Given the description of an element on the screen output the (x, y) to click on. 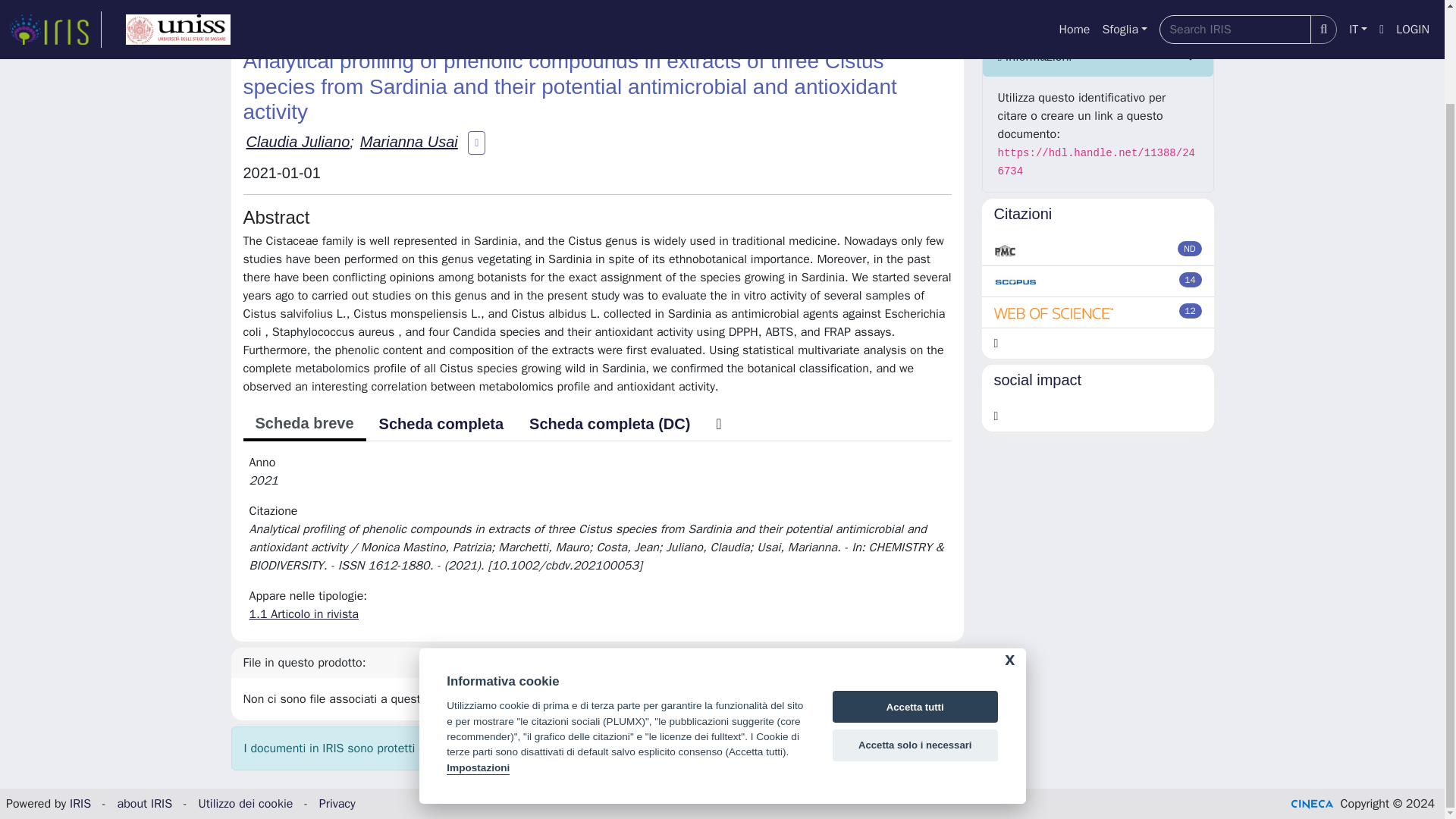
IRIS (79, 803)
Claudia Juliano (297, 141)
Marianna Usai (408, 141)
1 Contributo su Rivista (438, 14)
 Informazioni (1097, 56)
1.1 Articolo in rivista (572, 14)
IRIS (240, 14)
Scheda breve (304, 424)
Scheda completa (441, 423)
Catalogo Ricerca (314, 14)
1.1 Articolo in rivista (303, 613)
